Given the description of an element on the screen output the (x, y) to click on. 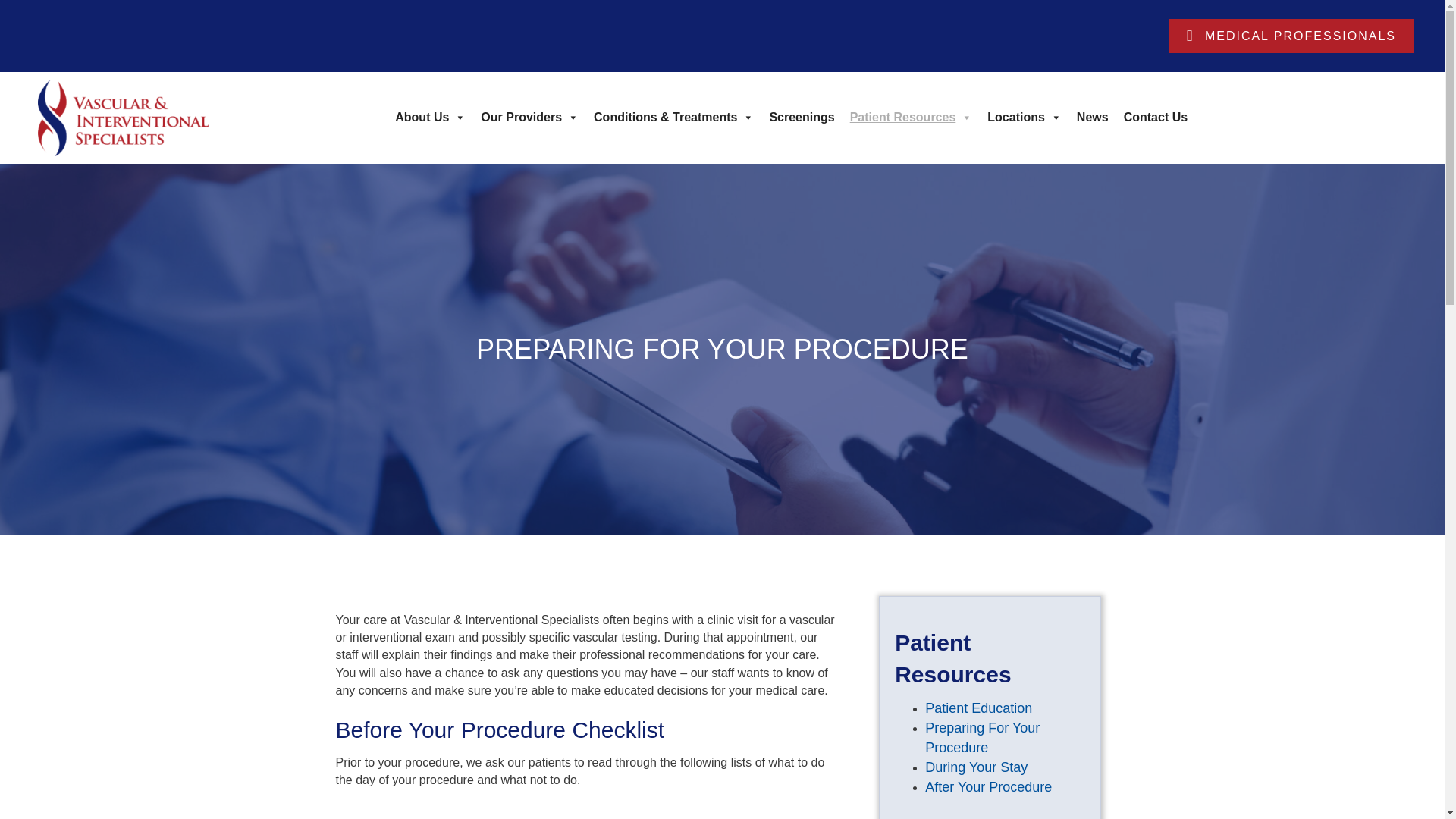
Our Providers (529, 117)
logo (122, 117)
MEDICAL PROFESSIONALS (1291, 35)
About Us (430, 117)
